Given the description of an element on the screen output the (x, y) to click on. 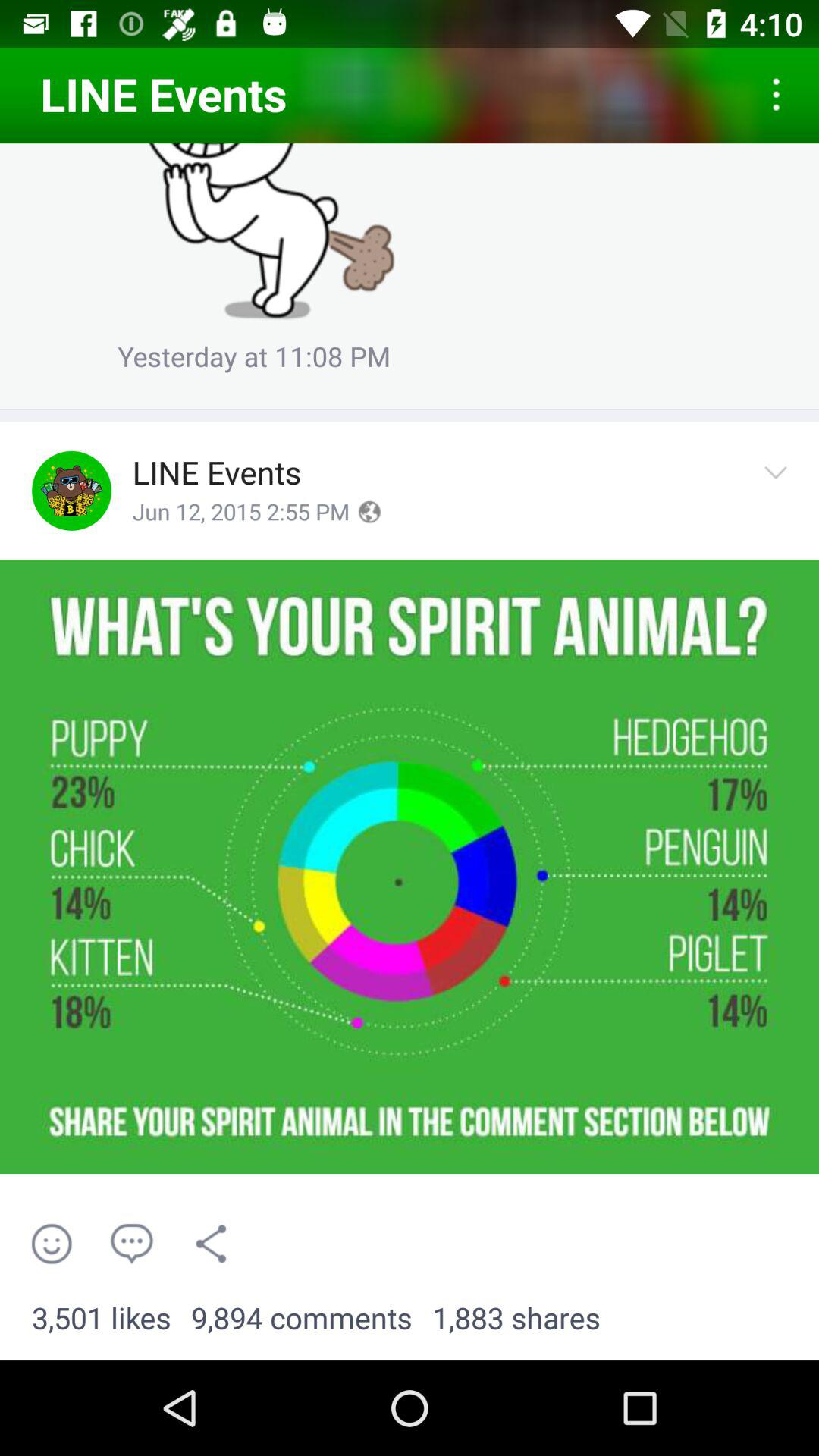
turn off the icon to the right of 3,501 likes icon (301, 1318)
